Given the description of an element on the screen output the (x, y) to click on. 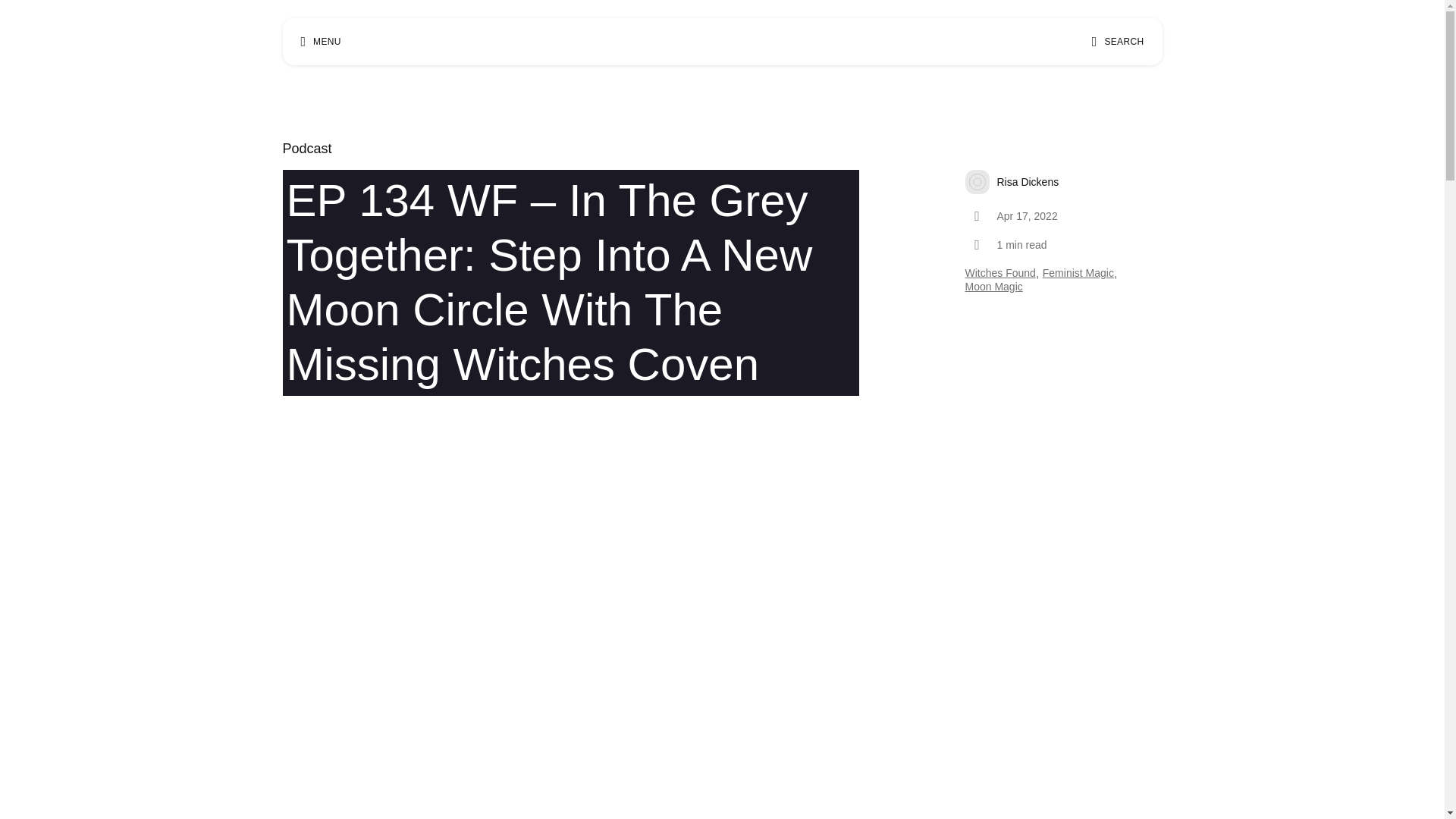
Missing Witches (715, 41)
SEARCH (1118, 41)
Moon Magic (992, 305)
Witches Found (999, 359)
MENU (320, 41)
Risa Dickens (1062, 300)
Feminist Magic (1077, 318)
Podcast (306, 283)
